Given the description of an element on the screen output the (x, y) to click on. 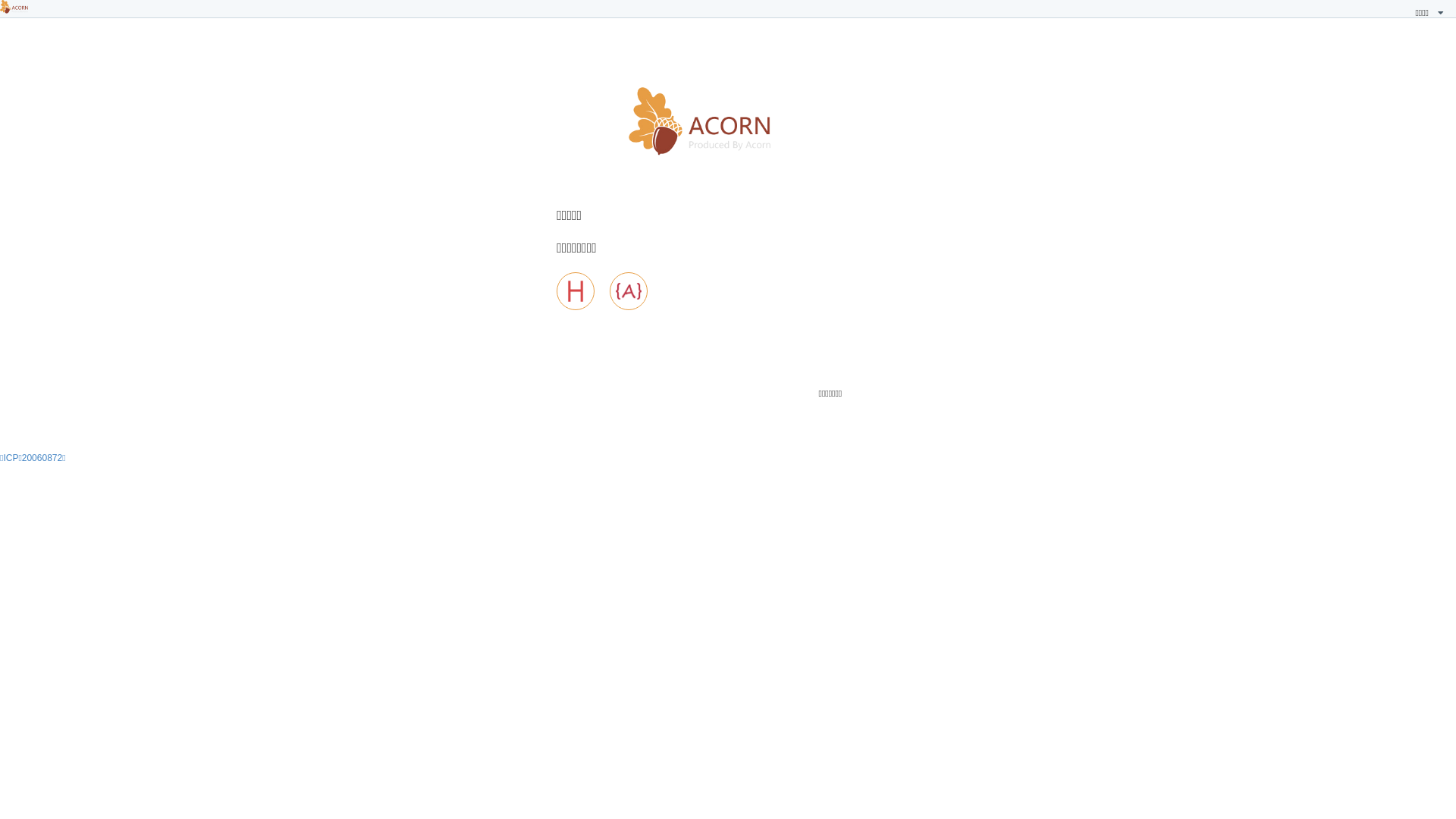
hello Element type: hover (575, 291)
api-mom Element type: hover (628, 291)
